Given the description of an element on the screen output the (x, y) to click on. 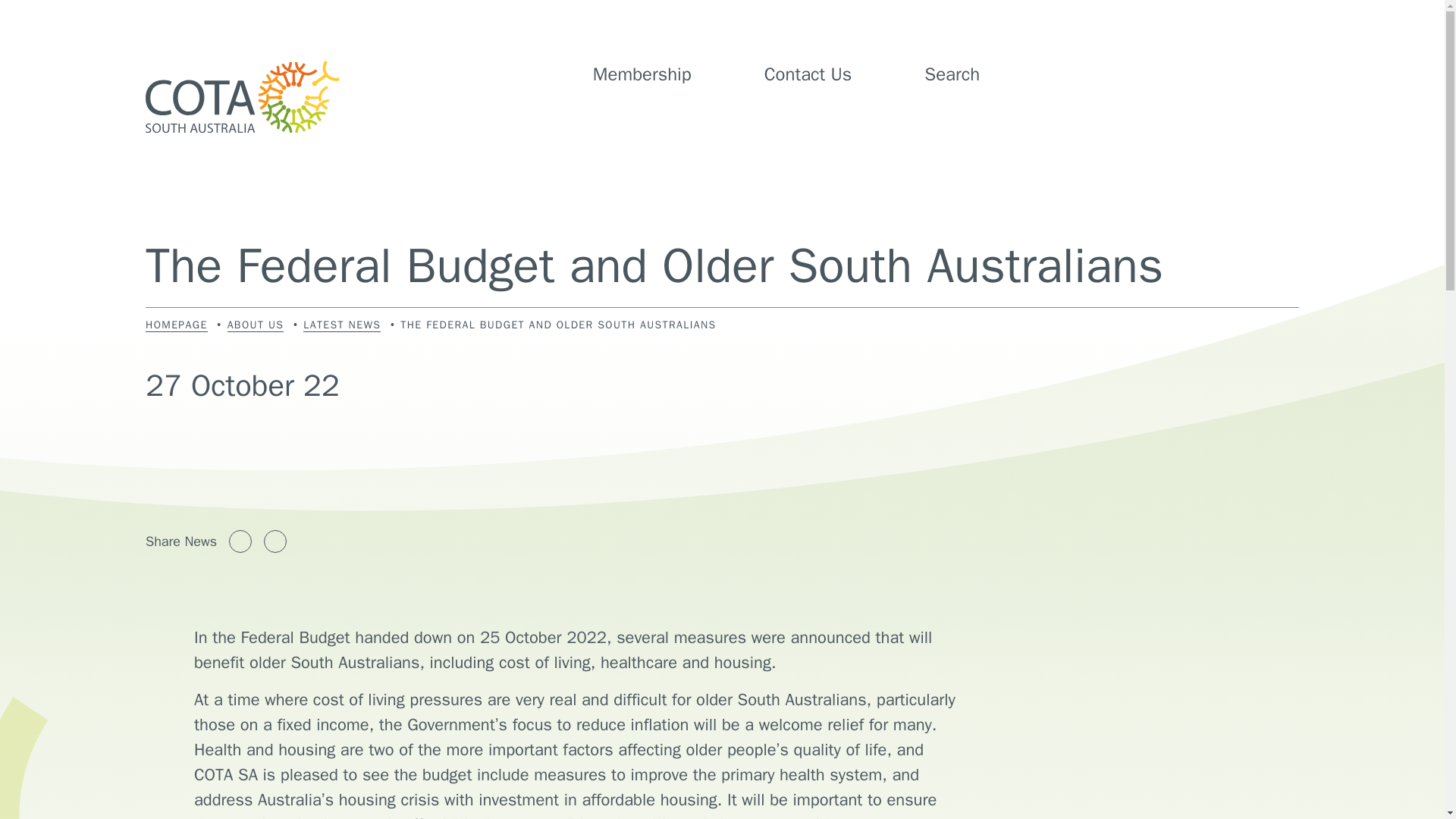
Contact Us (807, 73)
Search (970, 73)
Membership (641, 73)
